Given the description of an element on the screen output the (x, y) to click on. 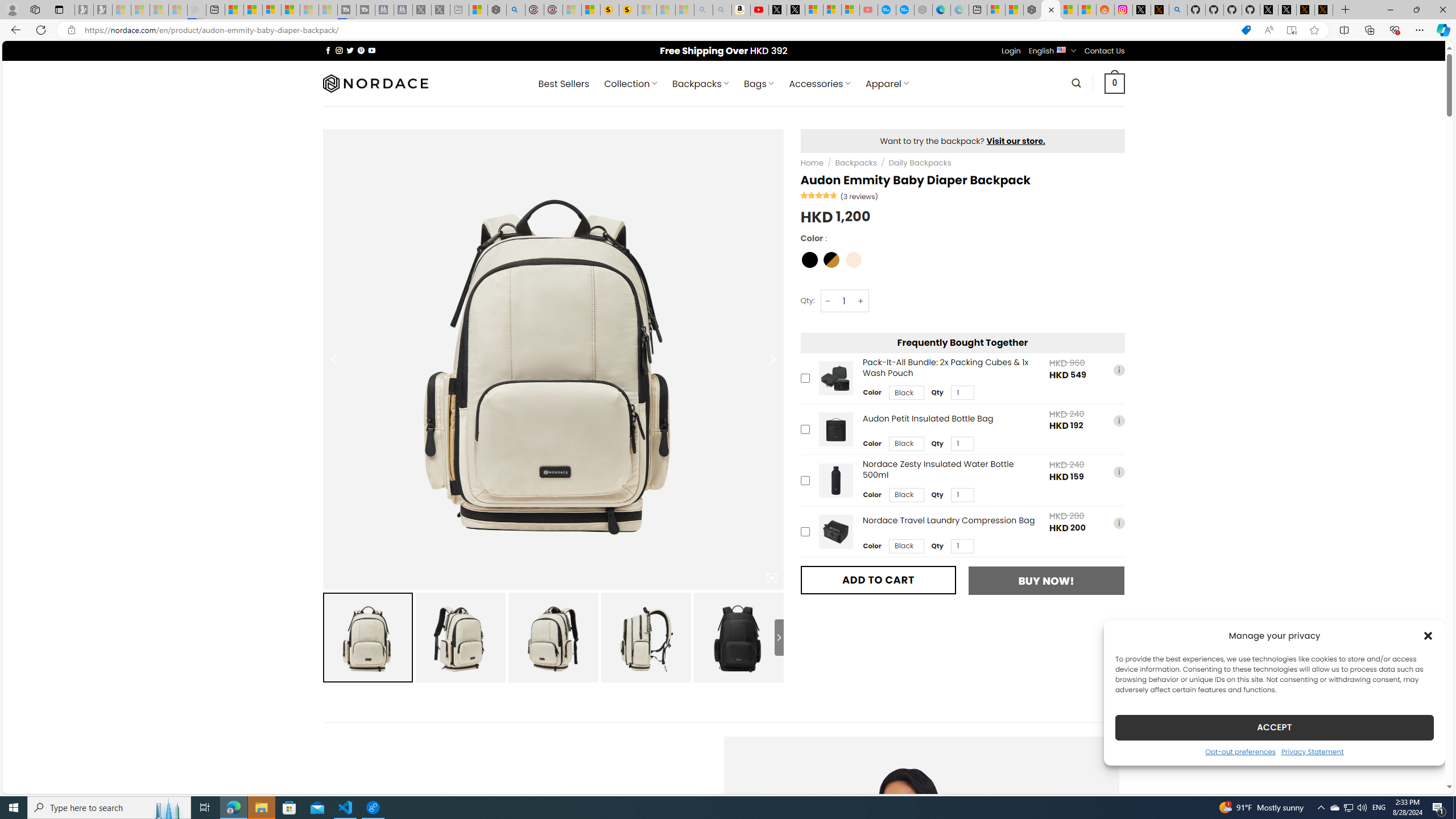
- (827, 300)
Class: upsell-v2-product-upsell-variable-product-qty-select (962, 545)
poe - Search (515, 9)
English (1061, 49)
Profile / X (1268, 9)
